Given the description of an element on the screen output the (x, y) to click on. 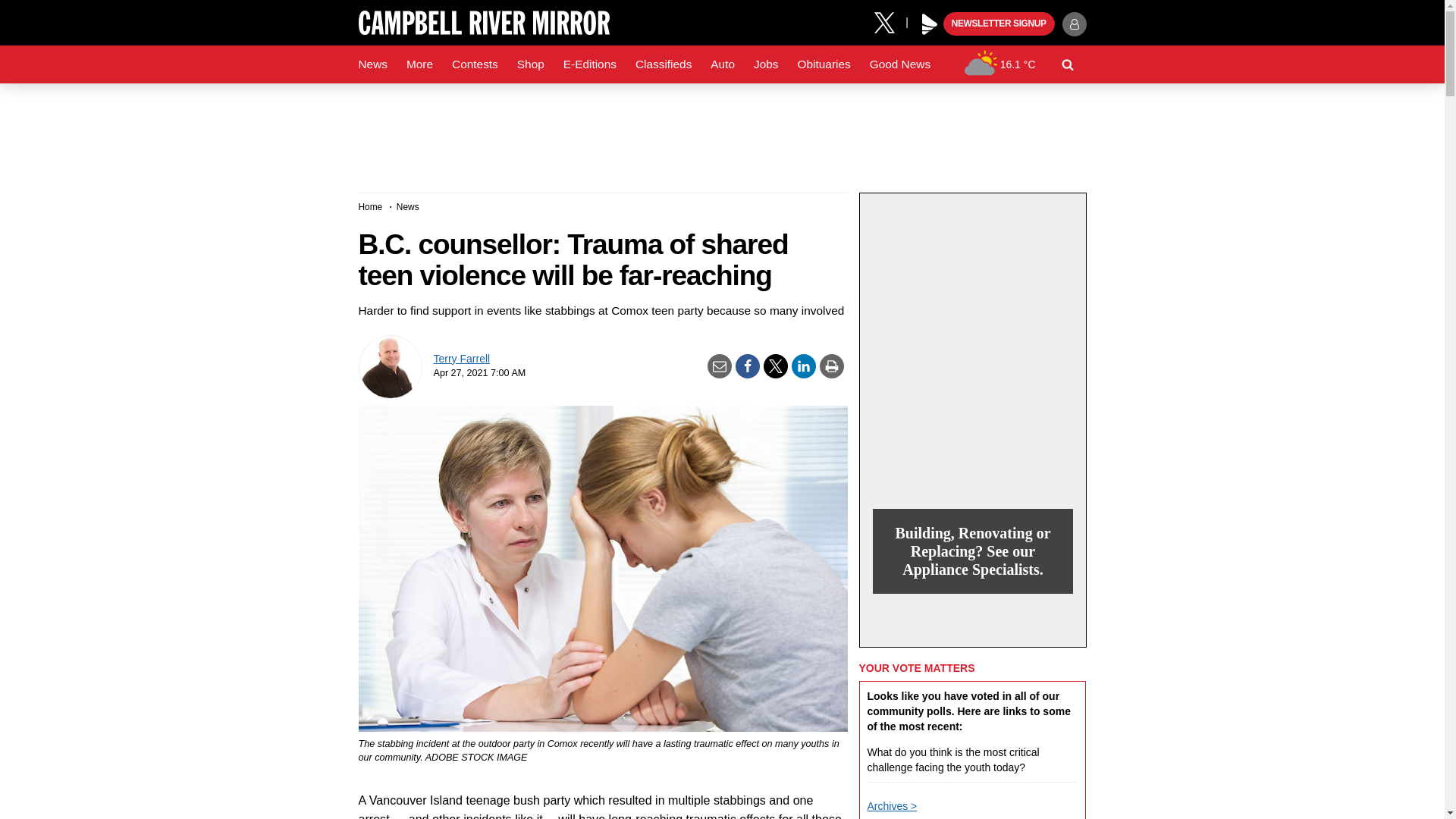
X (889, 21)
NEWSLETTER SIGNUP (998, 24)
Play (929, 24)
Black Press Media (929, 24)
3rd party ad content (721, 131)
News (372, 64)
